Given the description of an element on the screen output the (x, y) to click on. 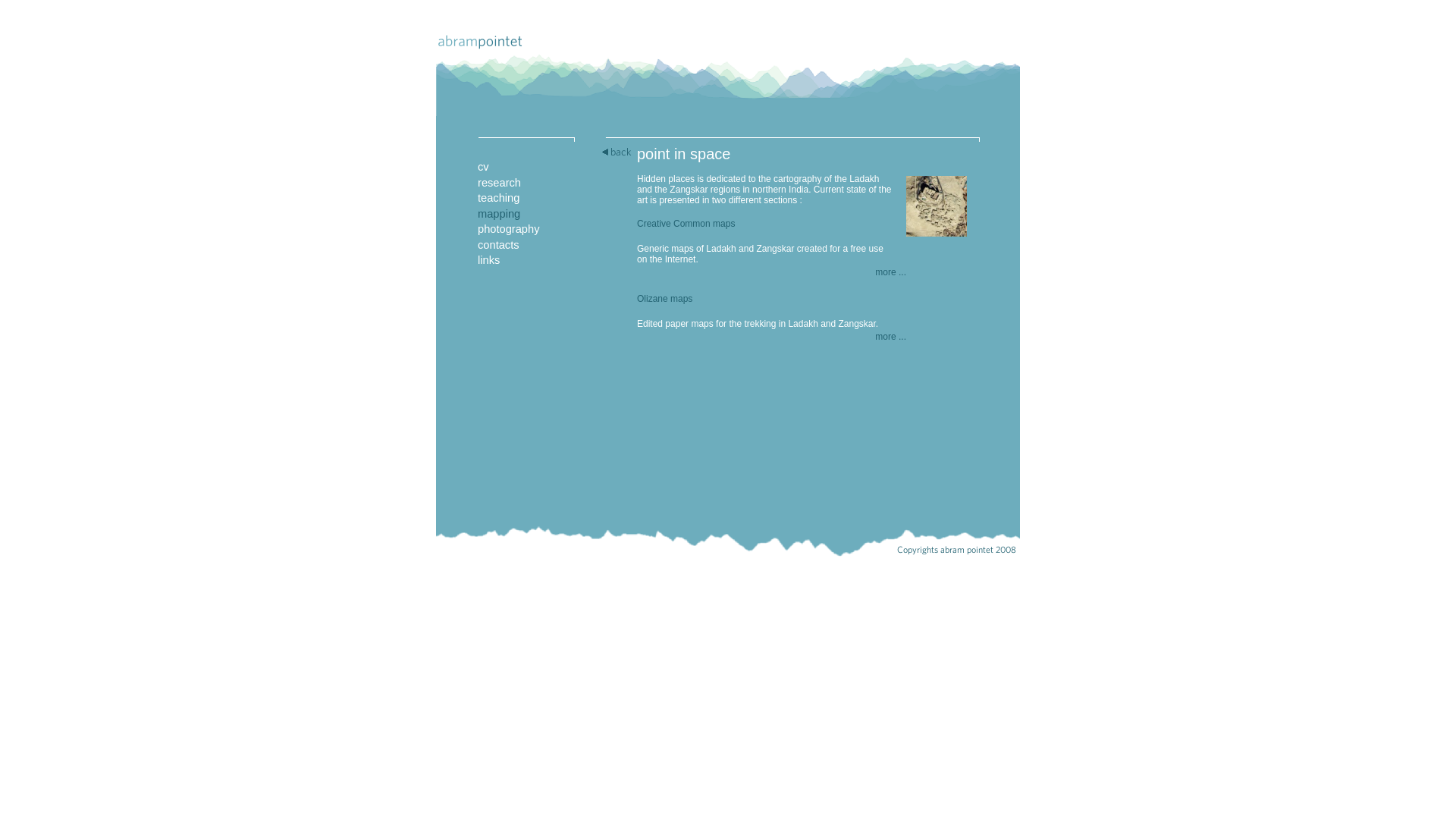
Chemre Gonpa - Zhung - Ladakh Element type: hover (936, 225)
cv Element type: text (483, 166)
more ... Element type: text (890, 336)
links Element type: text (488, 260)
photography Element type: text (508, 228)
more ... Element type: text (890, 271)
Creative Common maps Element type: text (685, 223)
teaching Element type: text (498, 197)
contacts Element type: text (498, 244)
research Element type: text (498, 182)
Olizane maps Element type: text (664, 298)
